Given the description of an element on the screen output the (x, y) to click on. 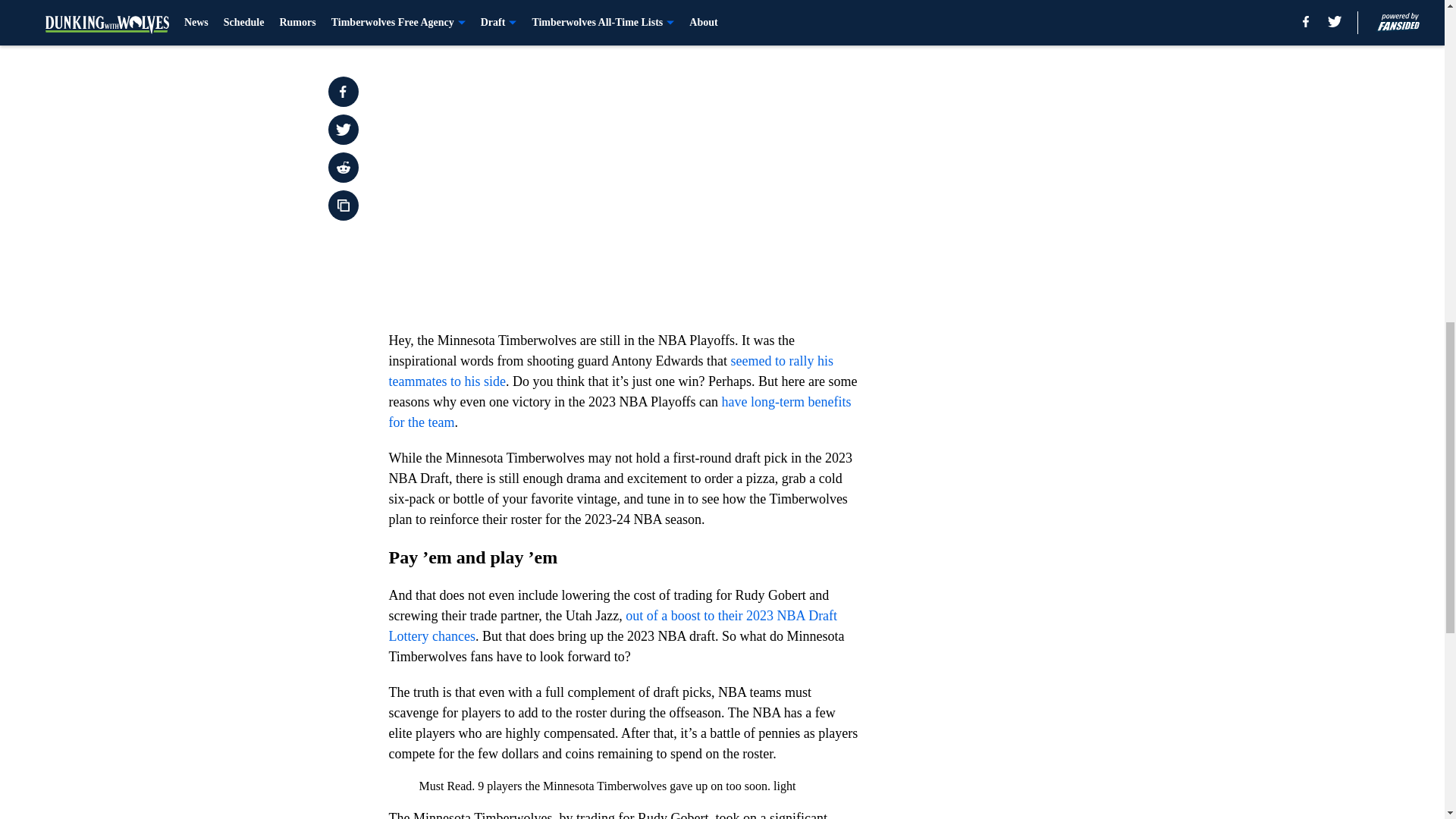
seemed to rally his teammates to his side (610, 370)
out of a boost to their 2023 NBA Draft Lottery chances (612, 625)
Next (813, 20)
have long-term benefits for the team (619, 411)
Prev (433, 20)
